Given the description of an element on the screen output the (x, y) to click on. 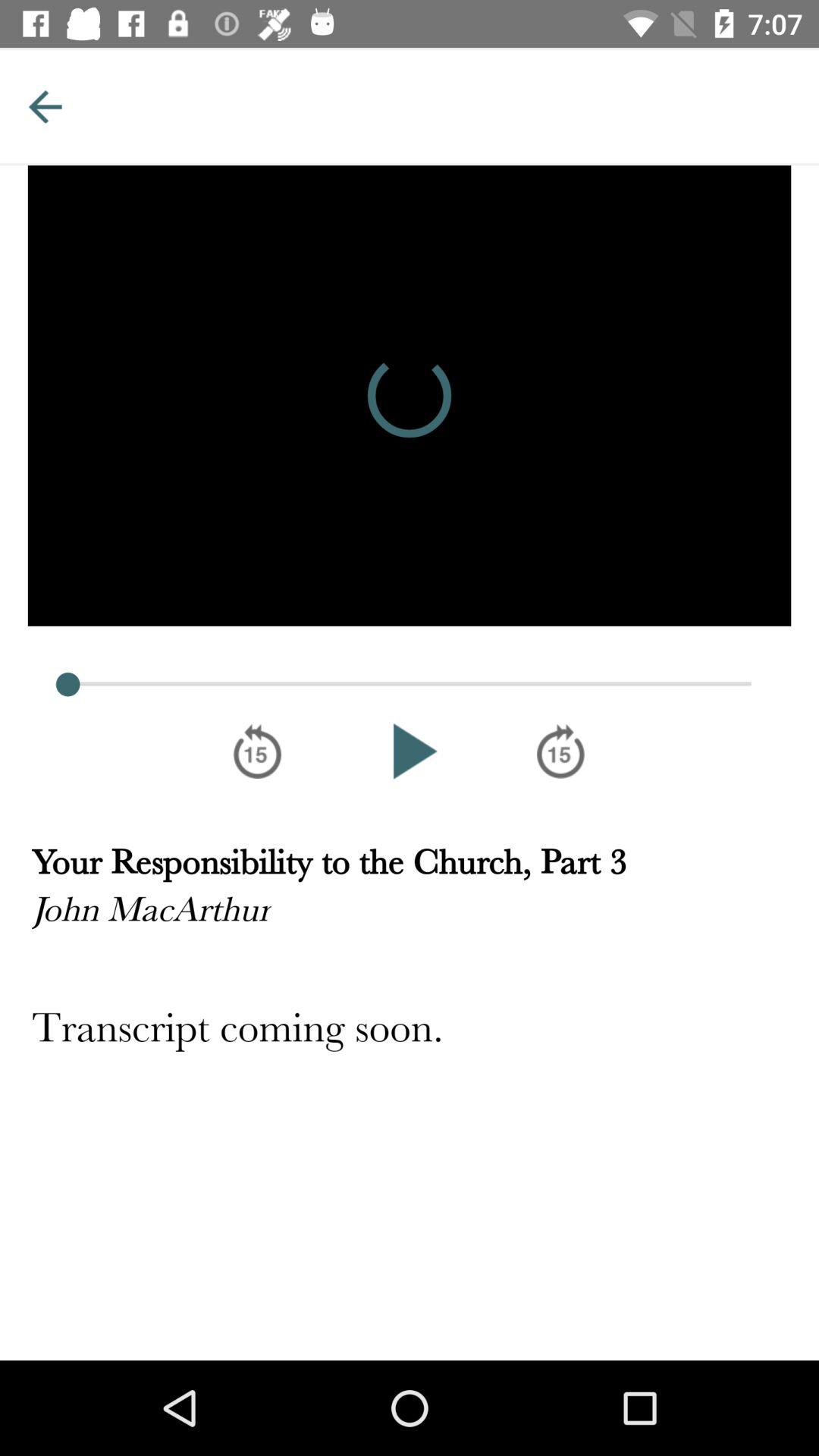
back 15 sec (257, 751)
